Given the description of an element on the screen output the (x, y) to click on. 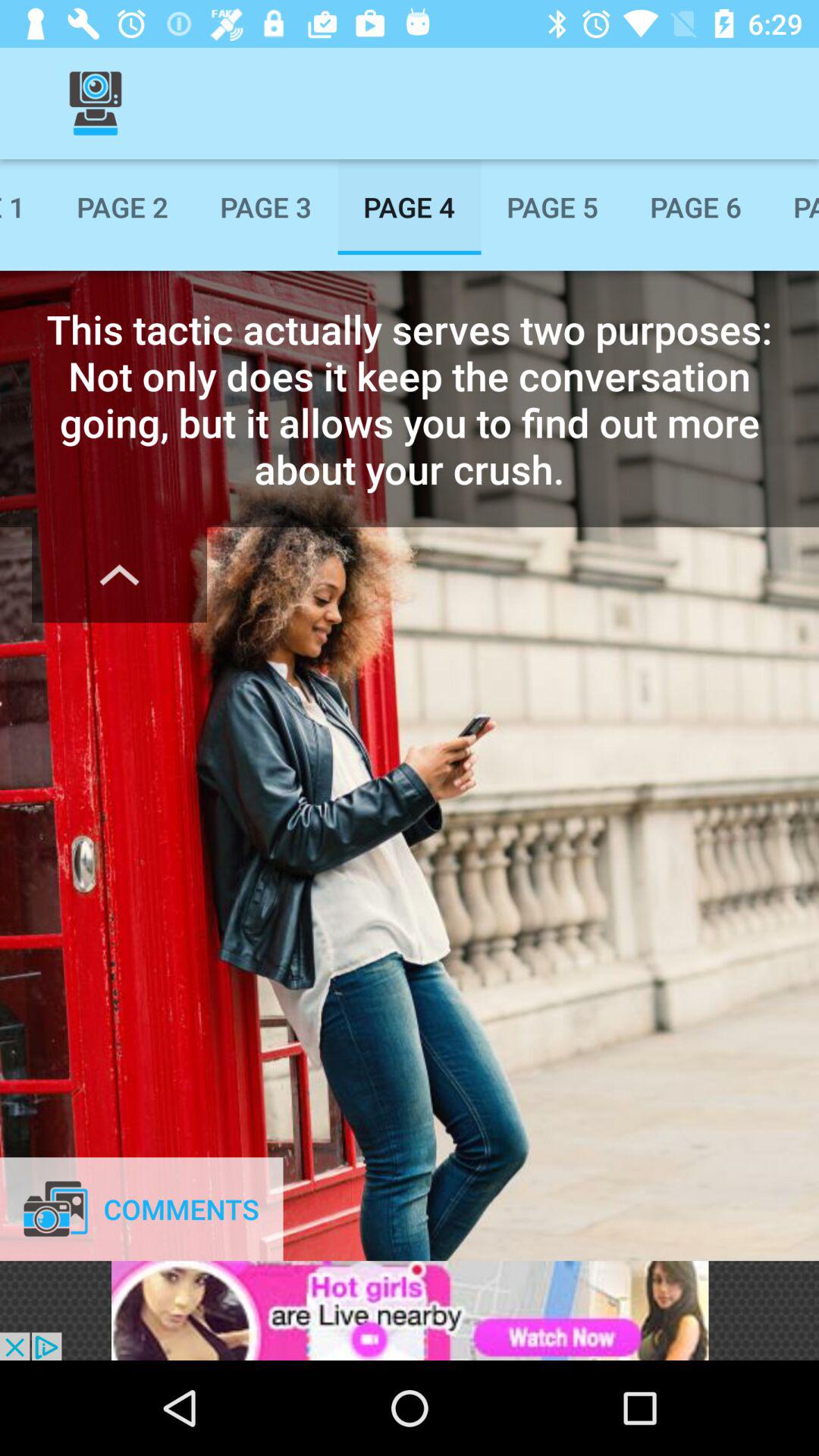
up arrow (119, 574)
